Given the description of an element on the screen output the (x, y) to click on. 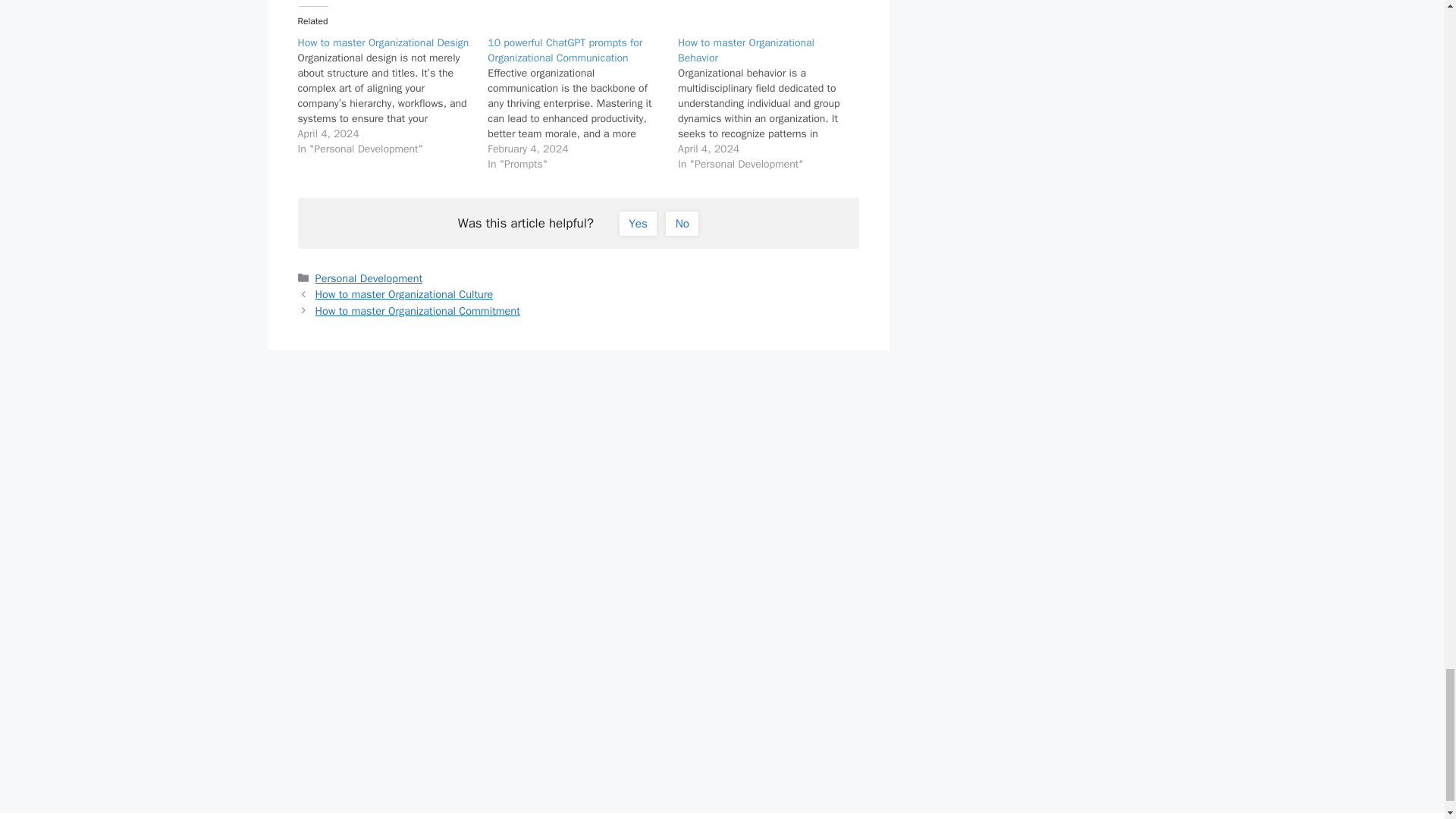
How to master Organizational Commitment (417, 310)
Personal Development (369, 278)
10 powerful ChatGPT prompts for Organizational Communication (582, 103)
How to master Organizational Design (382, 42)
How to master Organizational Design (392, 96)
How to master Organizational Design (382, 42)
10 powerful ChatGPT prompts for Organizational Communication (564, 50)
How to master Organizational Behavior (745, 50)
10 powerful ChatGPT prompts for Organizational Communication (564, 50)
How to master Organizational Behavior (772, 103)
